Given the description of an element on the screen output the (x, y) to click on. 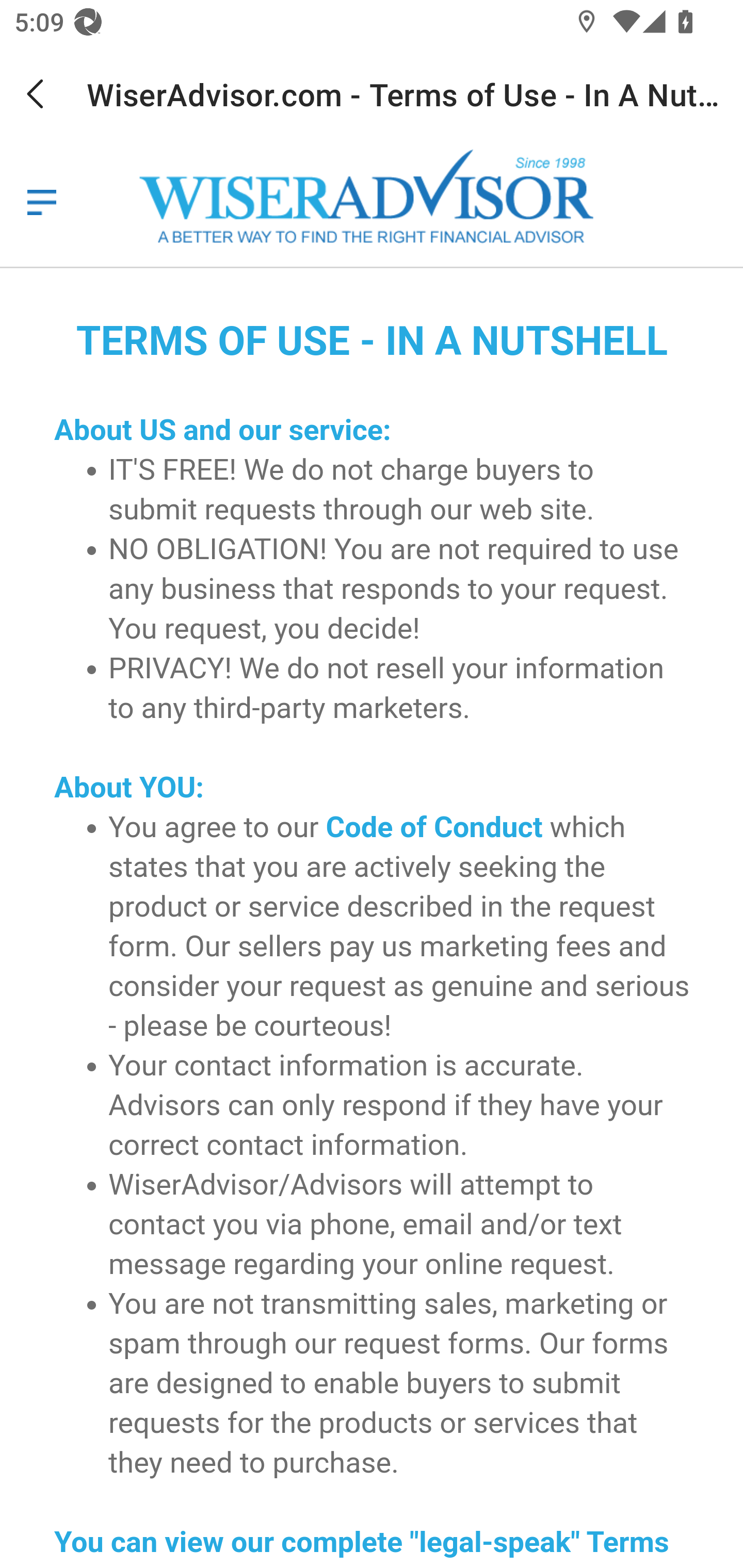
wiseradvisor (374, 198)
wiseradvisor (41, 202)
Code of Conduct (434, 827)
